Given the description of an element on the screen output the (x, y) to click on. 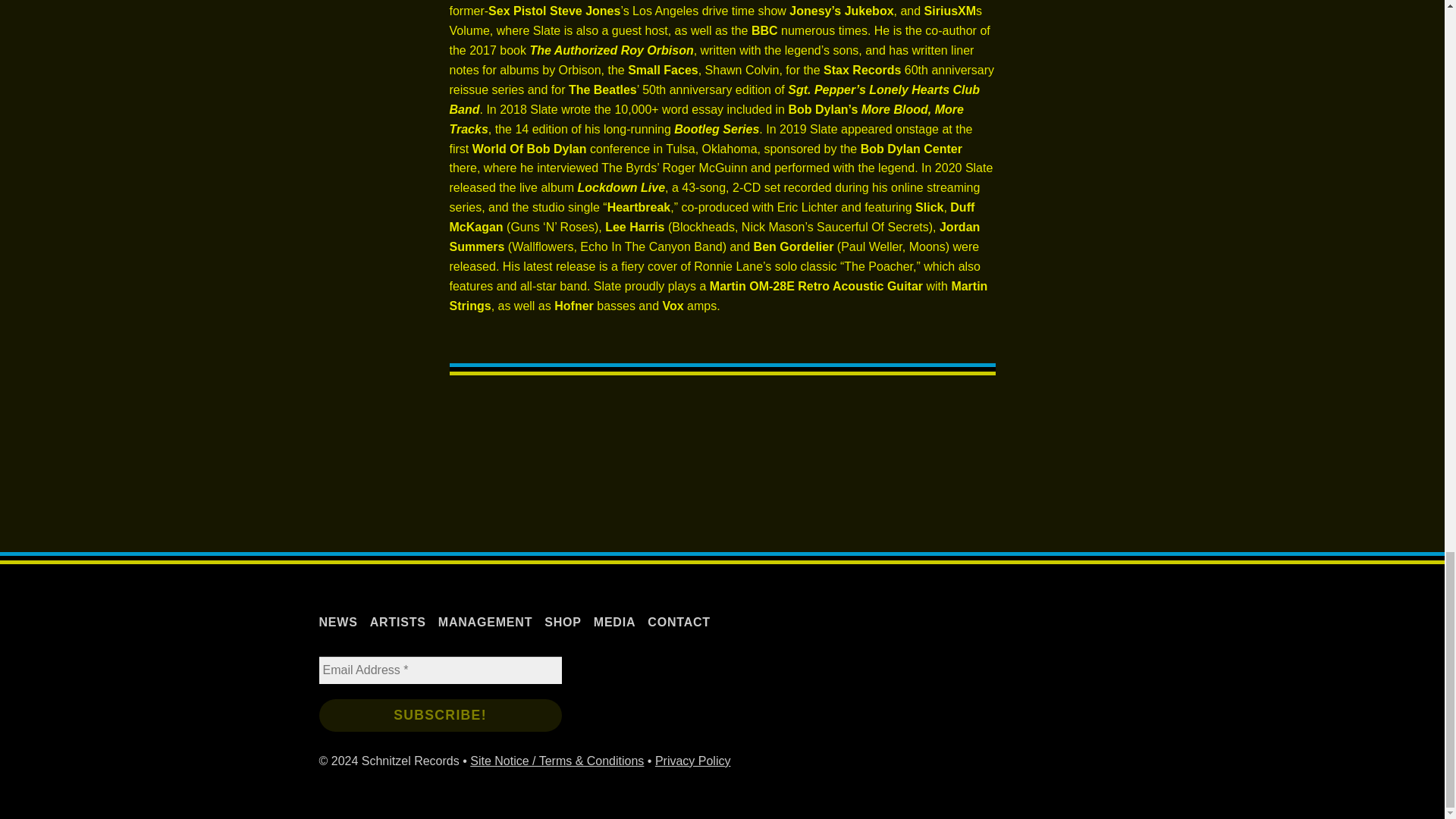
MANAGEMENT (485, 621)
ARTISTS (397, 621)
Subscribe! (440, 715)
Privacy Policy (692, 760)
MEDIA (615, 621)
Email Address (440, 669)
Subscribe! (440, 715)
SHOP (562, 621)
NEWS (338, 621)
CONTACT (678, 621)
